Given the description of an element on the screen output the (x, y) to click on. 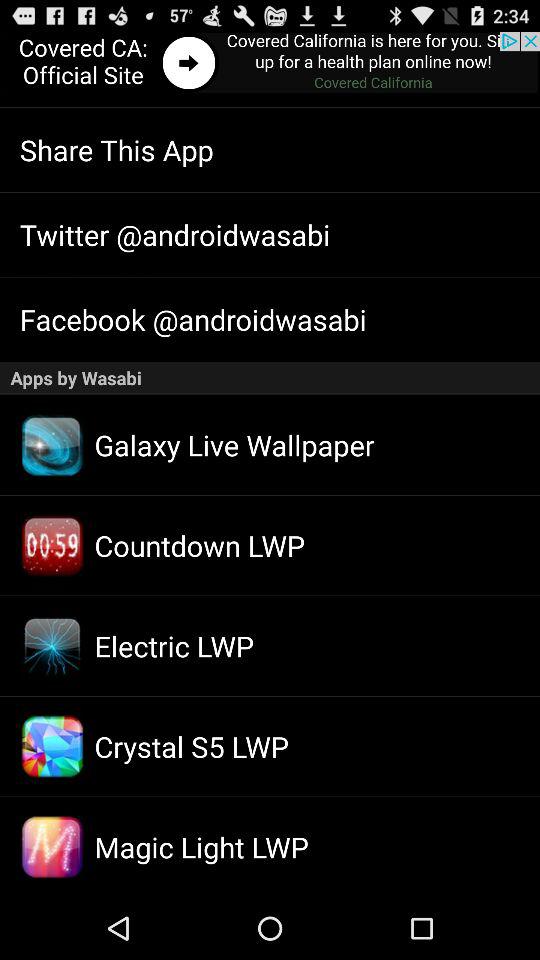
advertisement (270, 64)
